Given the description of an element on the screen output the (x, y) to click on. 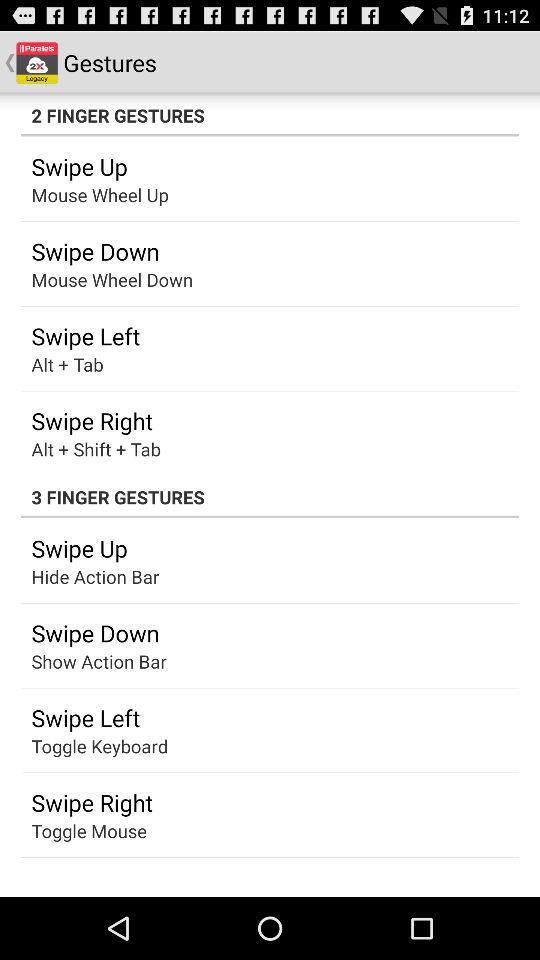
swipe until hide mouse (80, 661)
